Given the description of an element on the screen output the (x, y) to click on. 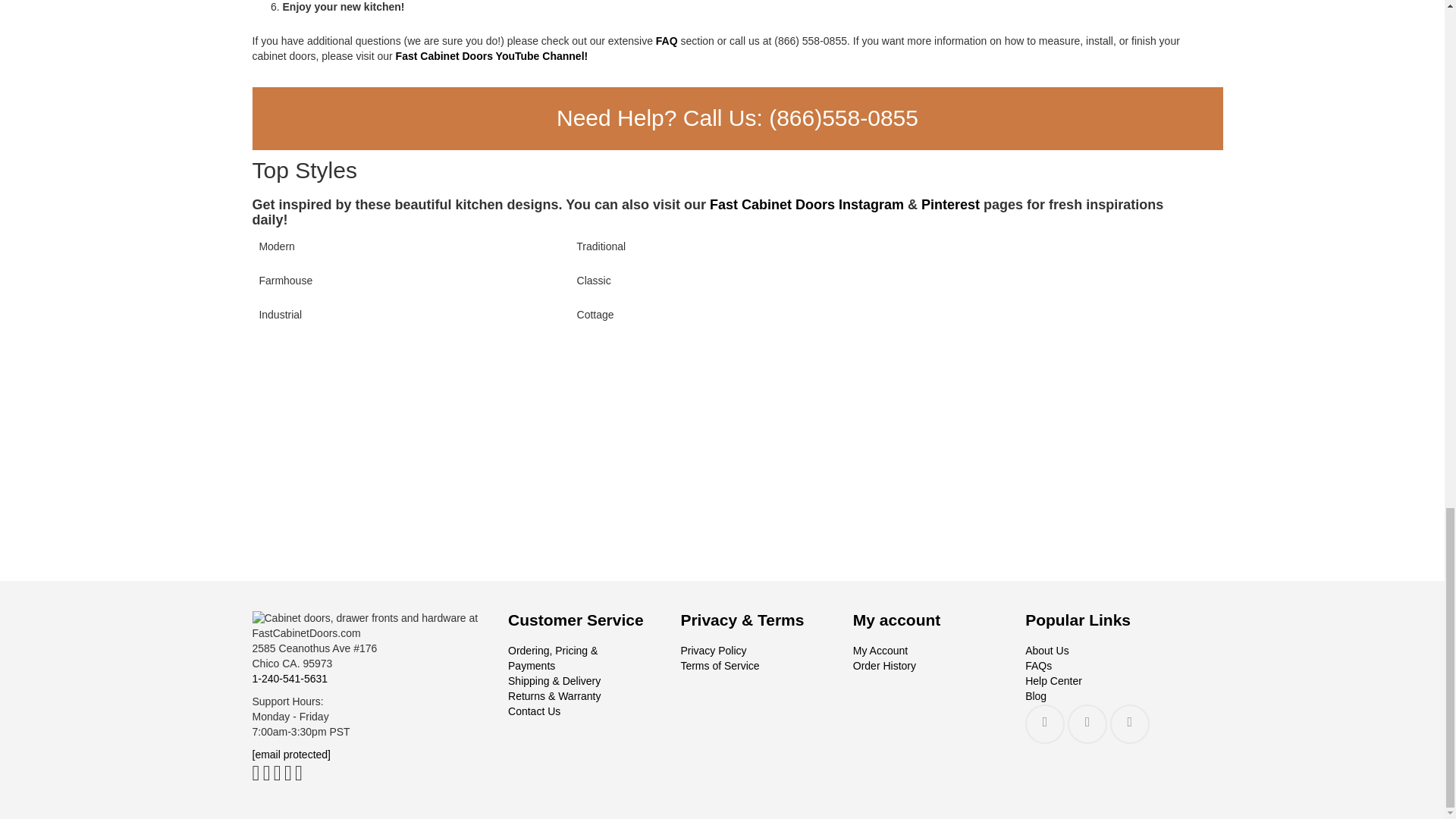
Fast Cabinet Doors Pinterest Page (950, 204)
FAQ (667, 40)
Fast Cabinet Doors Instagram Page (807, 204)
